Given the description of an element on the screen output the (x, y) to click on. 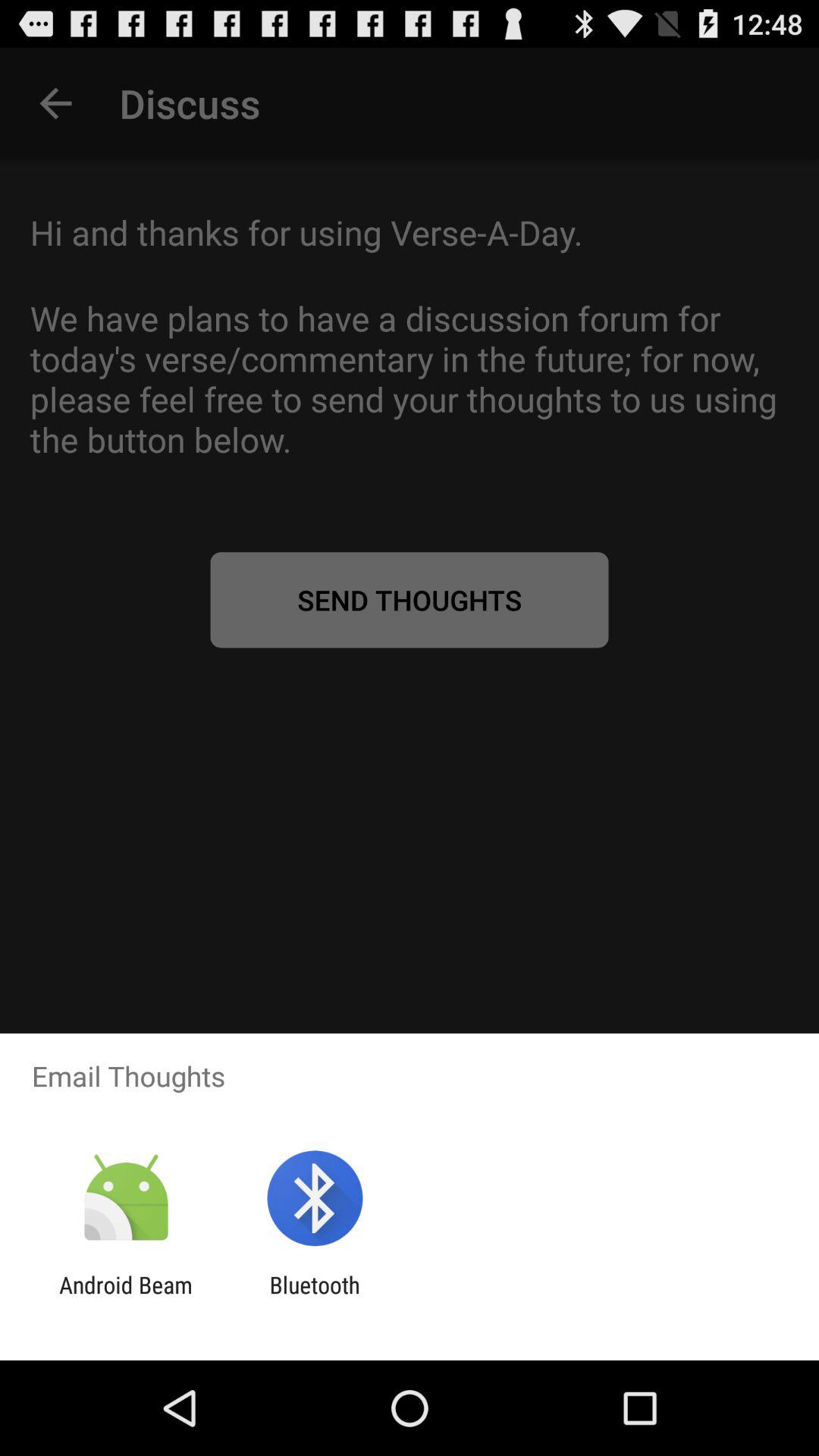
click bluetooth (314, 1298)
